Given the description of an element on the screen output the (x, y) to click on. 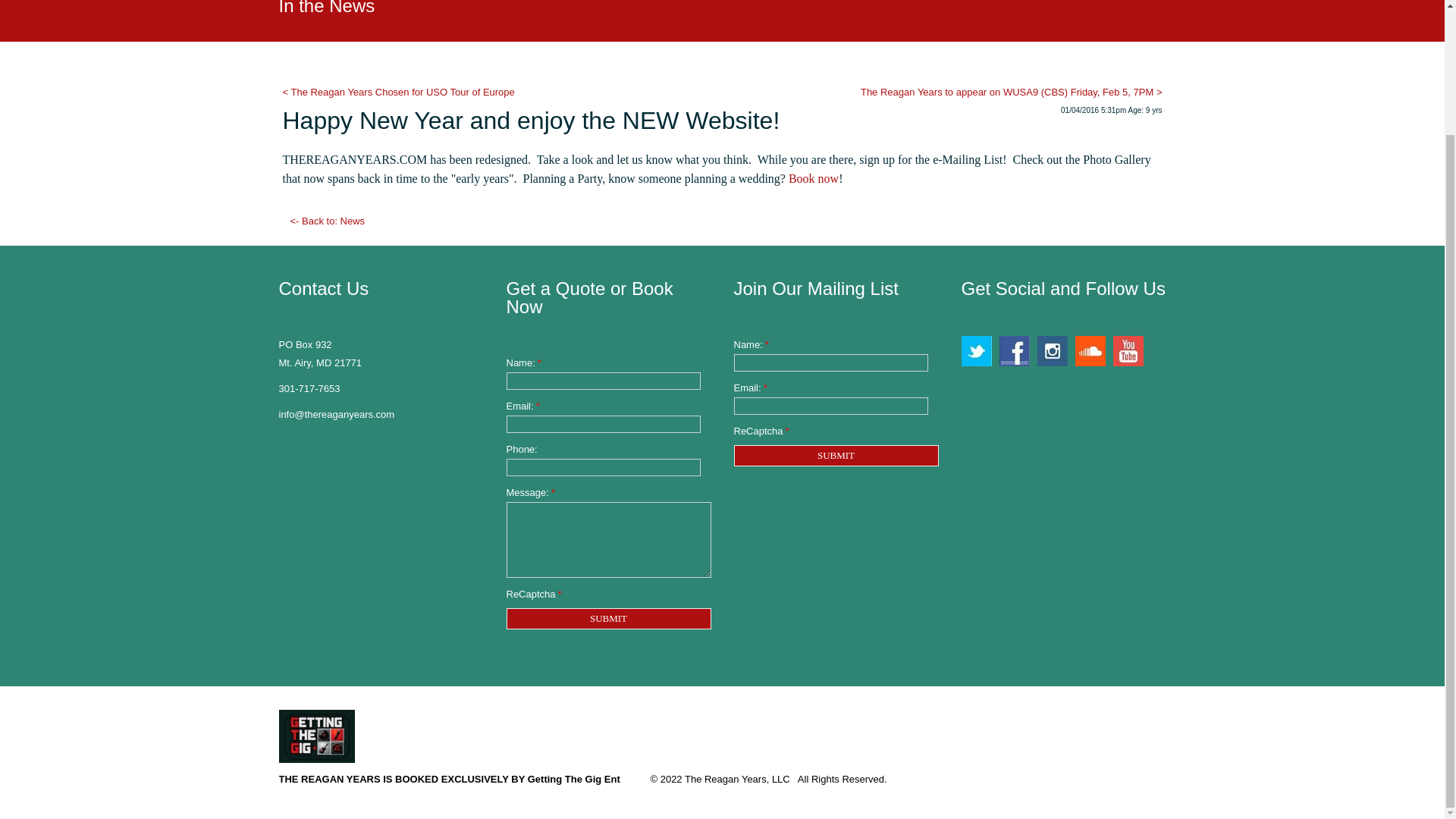
Book now (813, 178)
Submit (608, 618)
Submit (608, 618)
Submit (836, 455)
Submit (836, 455)
The Reagan Years Chosen for USO Tour of Europe (397, 91)
